Given the description of an element on the screen output the (x, y) to click on. 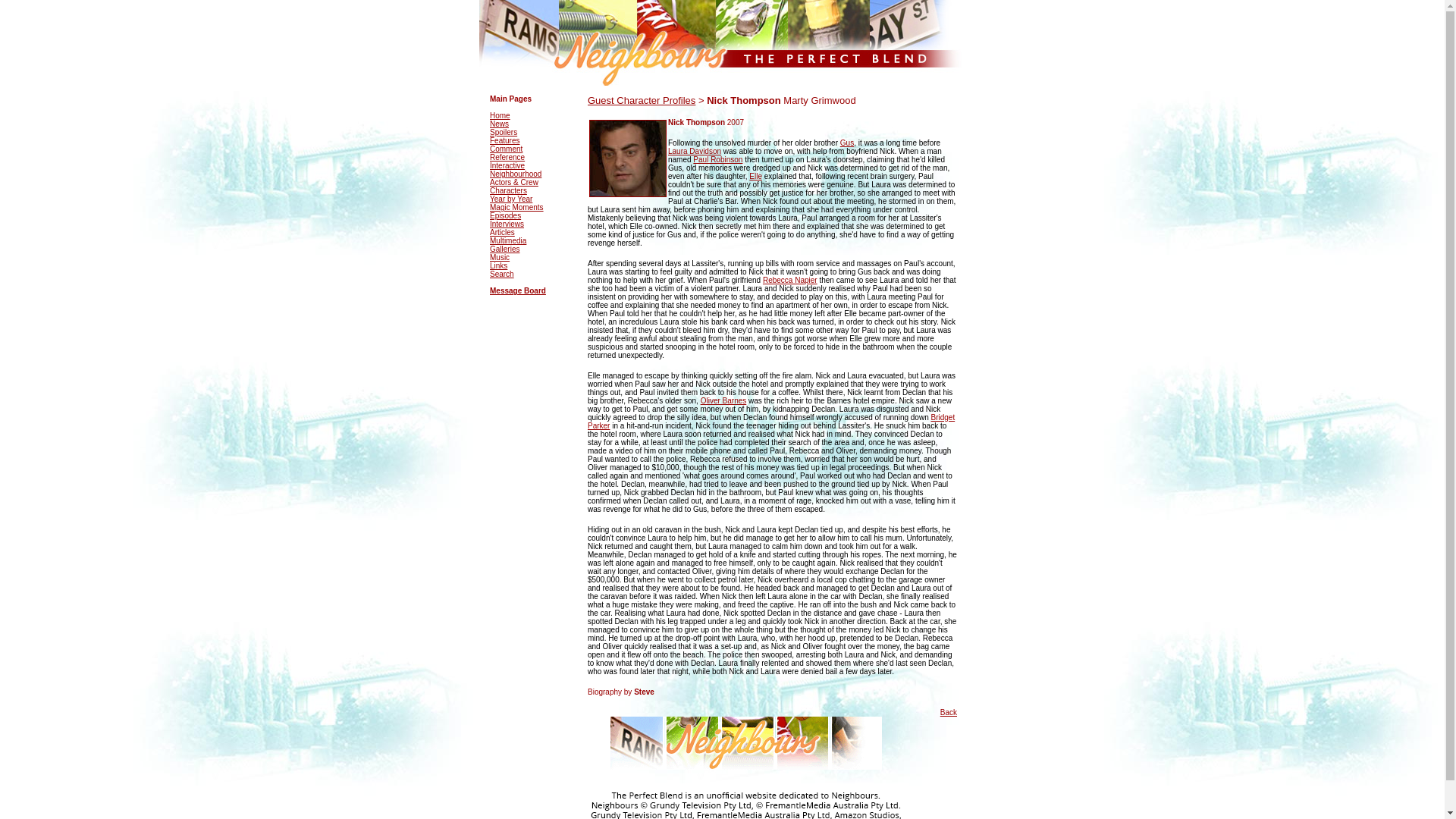
Interviews (506, 224)
Neighbourhood (515, 173)
Year by Year (510, 198)
Comment (505, 148)
Rebecca Napier (789, 280)
Back (948, 712)
Spoilers (502, 131)
Laura Davidson (694, 151)
Interactive (506, 165)
Guest Character Profiles (641, 100)
Characters (508, 190)
Music (499, 257)
Magic Moments (516, 207)
Paul Robinson (717, 159)
Links (497, 265)
